Given the description of an element on the screen output the (x, y) to click on. 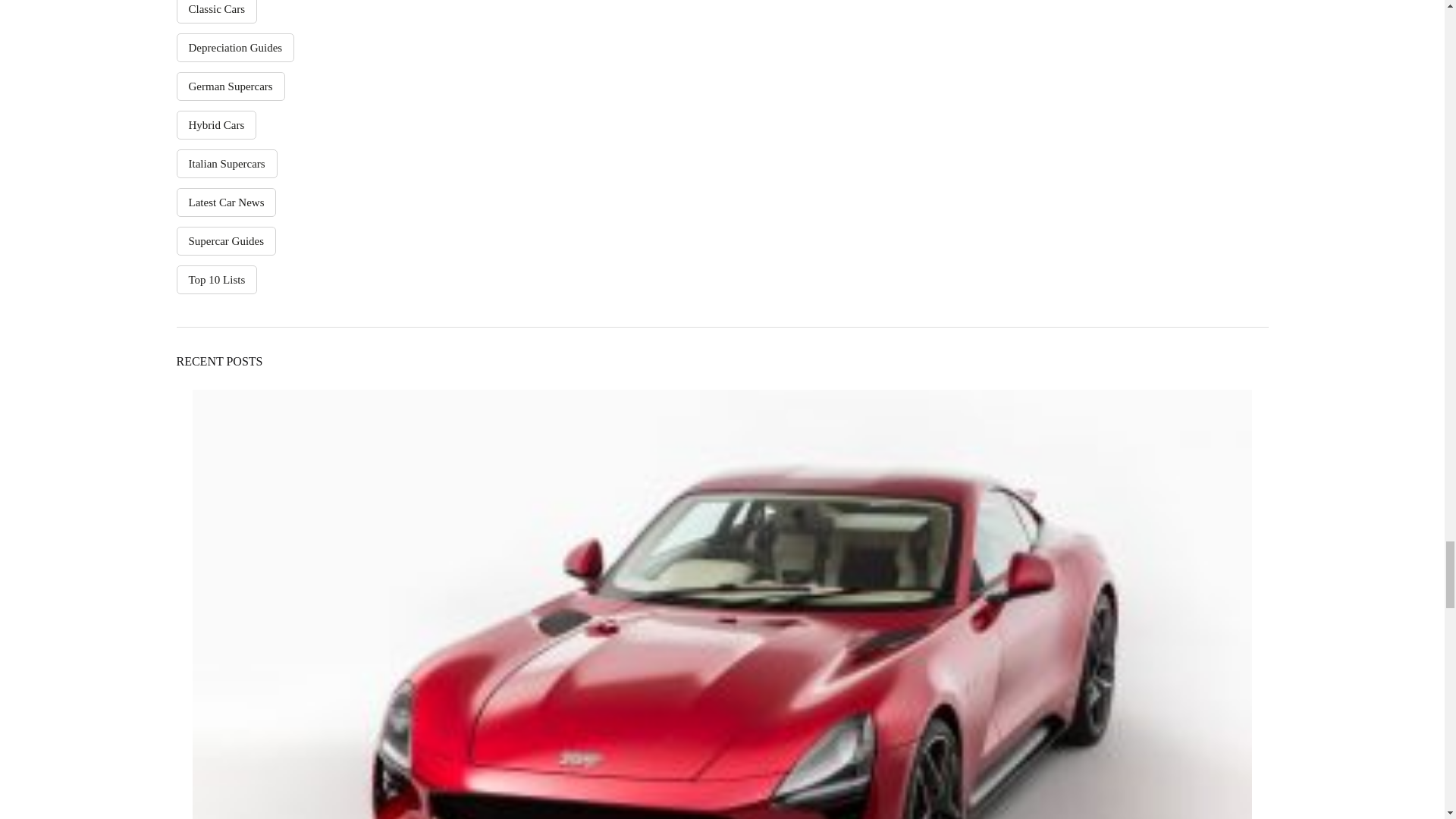
Classic Cars (216, 11)
